Given the description of an element on the screen output the (x, y) to click on. 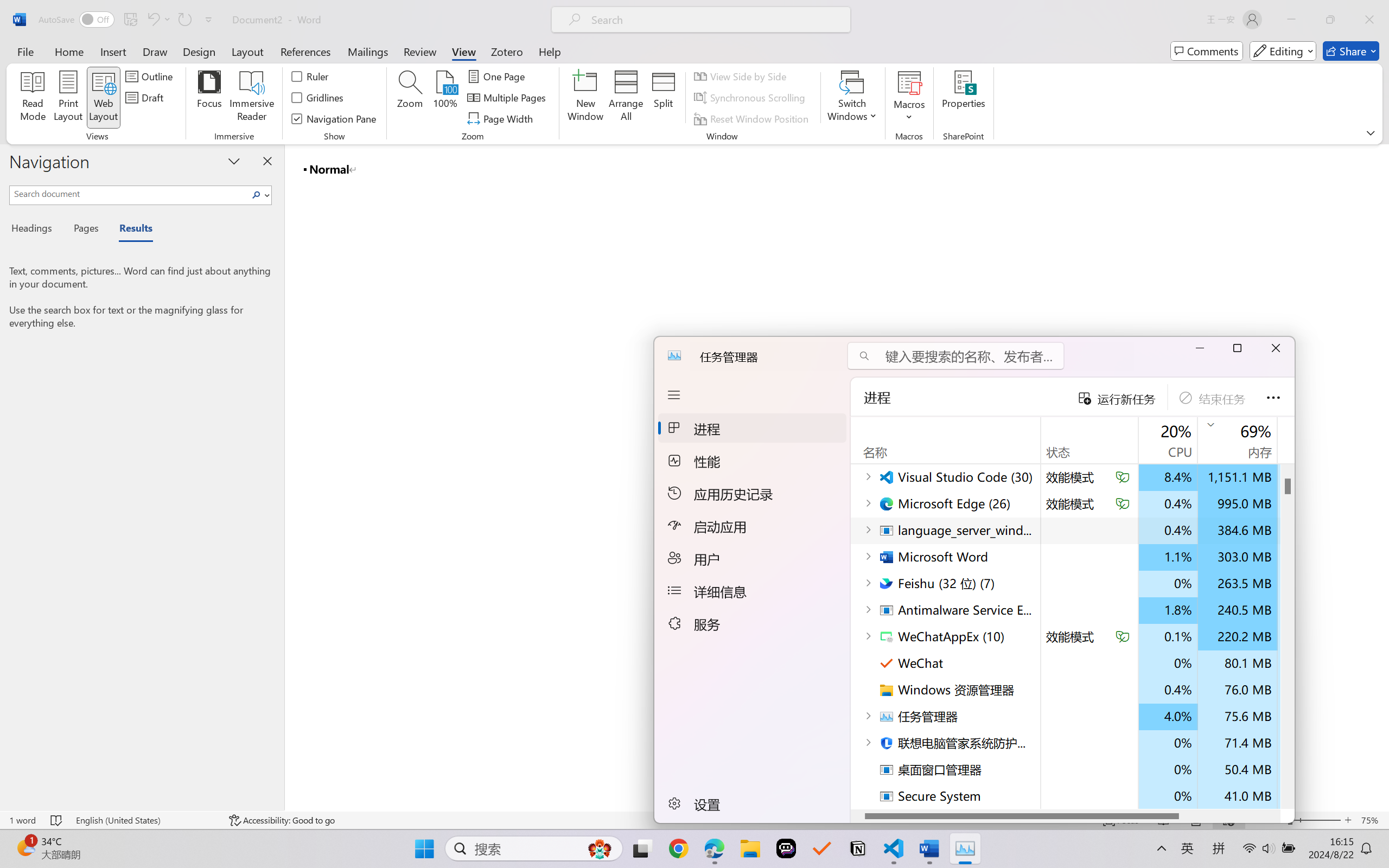
References (306, 51)
Draft (146, 97)
Headings (35, 229)
Language English (United States) (144, 819)
Class: MsoCommandBar (694, 72)
Word Count 1 word (21, 819)
Immersive Reader (251, 97)
Synchronous Scrolling (751, 97)
Search (256, 194)
Poe (786, 848)
Split (663, 97)
